Given the description of an element on the screen output the (x, y) to click on. 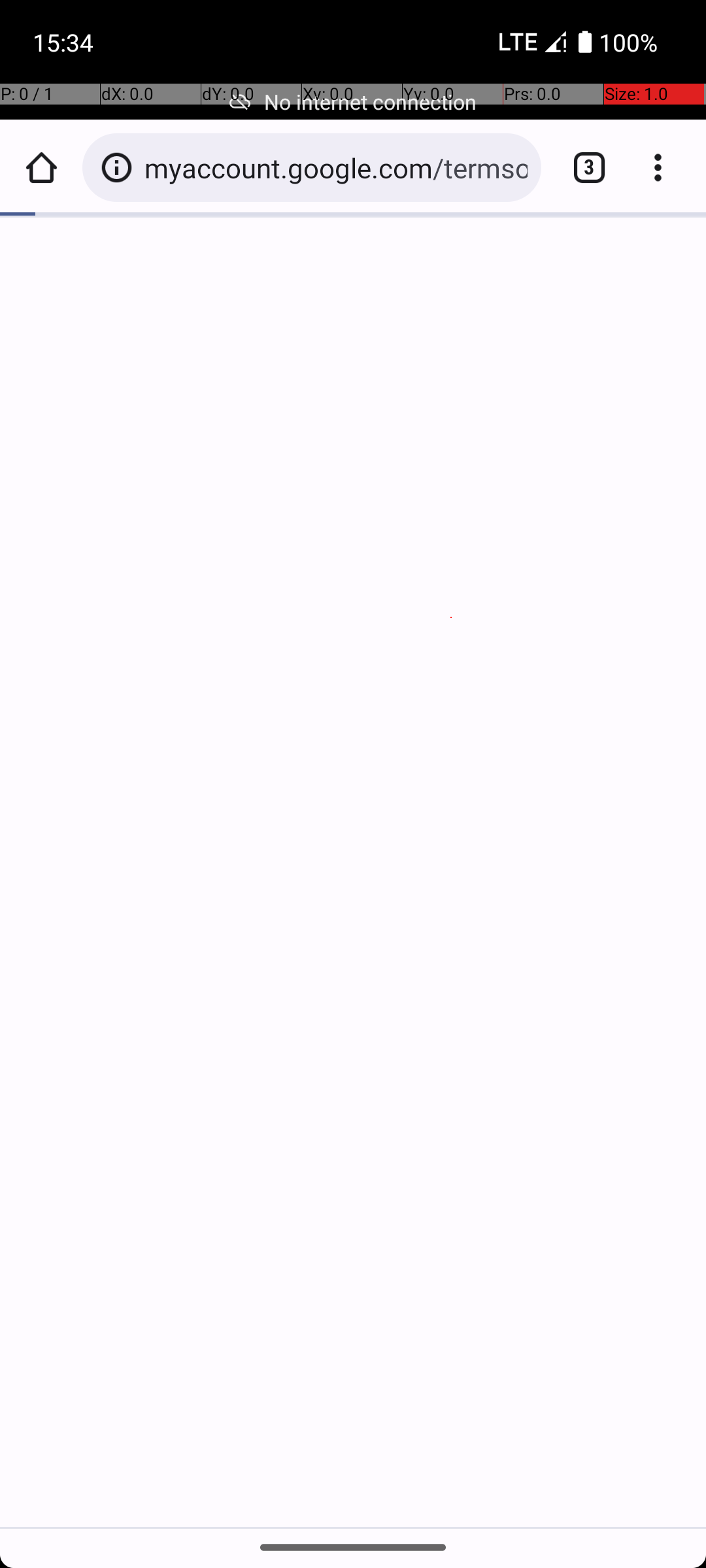
myaccount.google.com/termsofservice Element type: android.widget.EditText (335, 167)
